Given the description of an element on the screen output the (x, y) to click on. 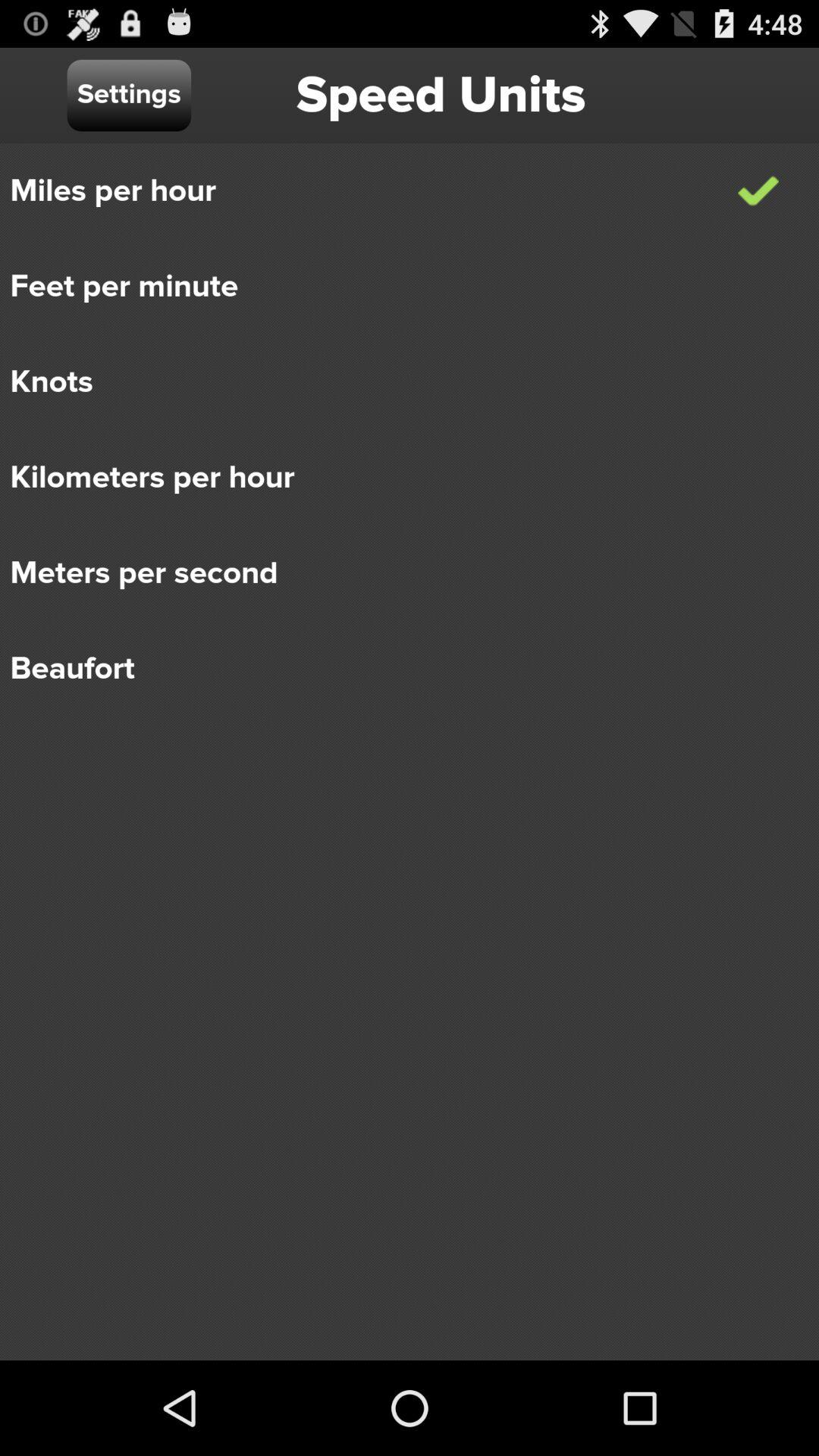
choose the beaufort item (399, 668)
